Given the description of an element on the screen output the (x, y) to click on. 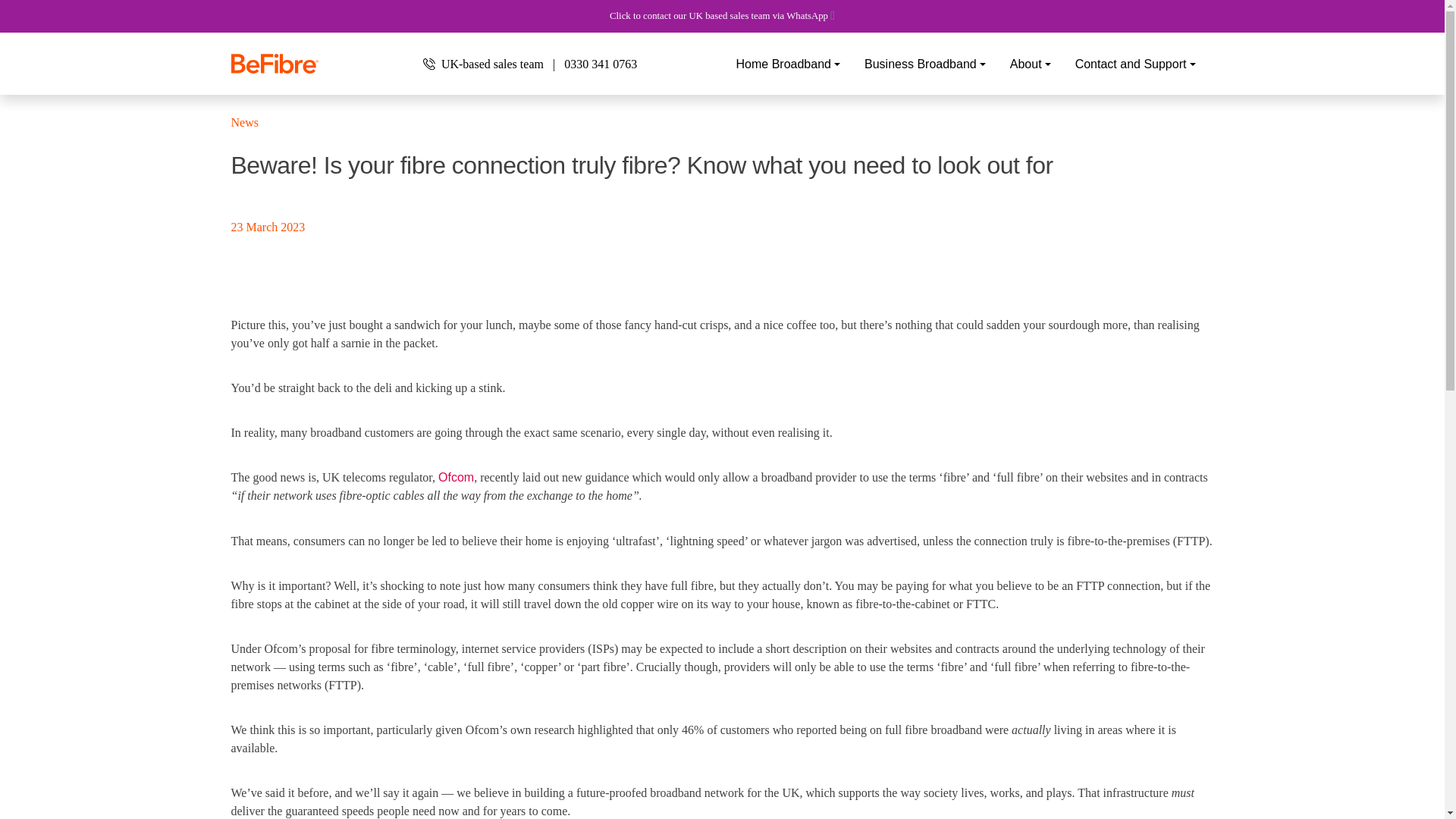
Business Broadband (925, 63)
Contact and Support (1135, 63)
Ofcom (456, 477)
Home Broadband (788, 63)
About (1030, 63)
